Given the description of an element on the screen output the (x, y) to click on. 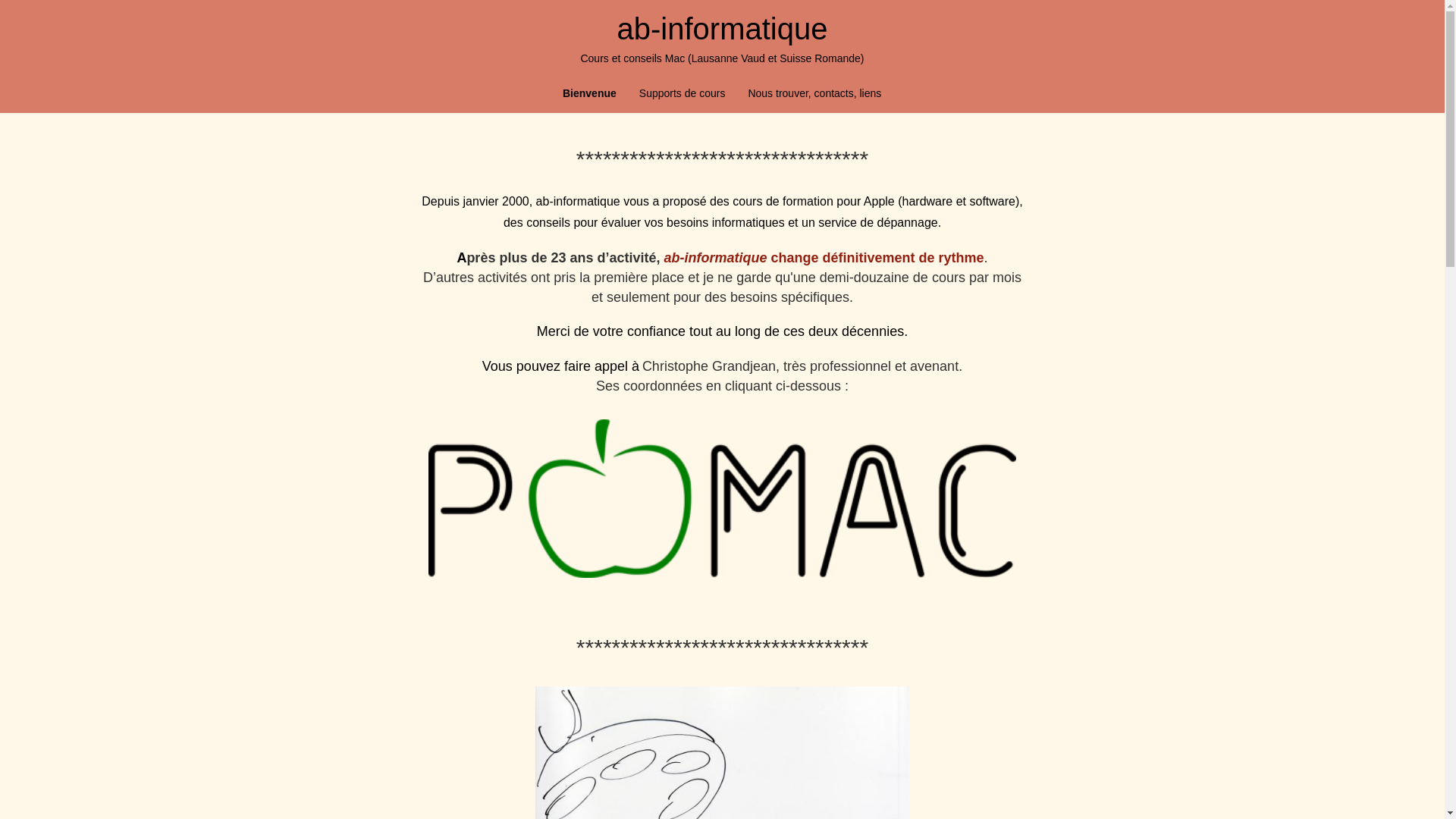
Supports de cours Element type: text (682, 93)
Nous trouver, contacts, liens Element type: text (814, 93)
Bienvenue Element type: text (589, 93)
